Given the description of an element on the screen output the (x, y) to click on. 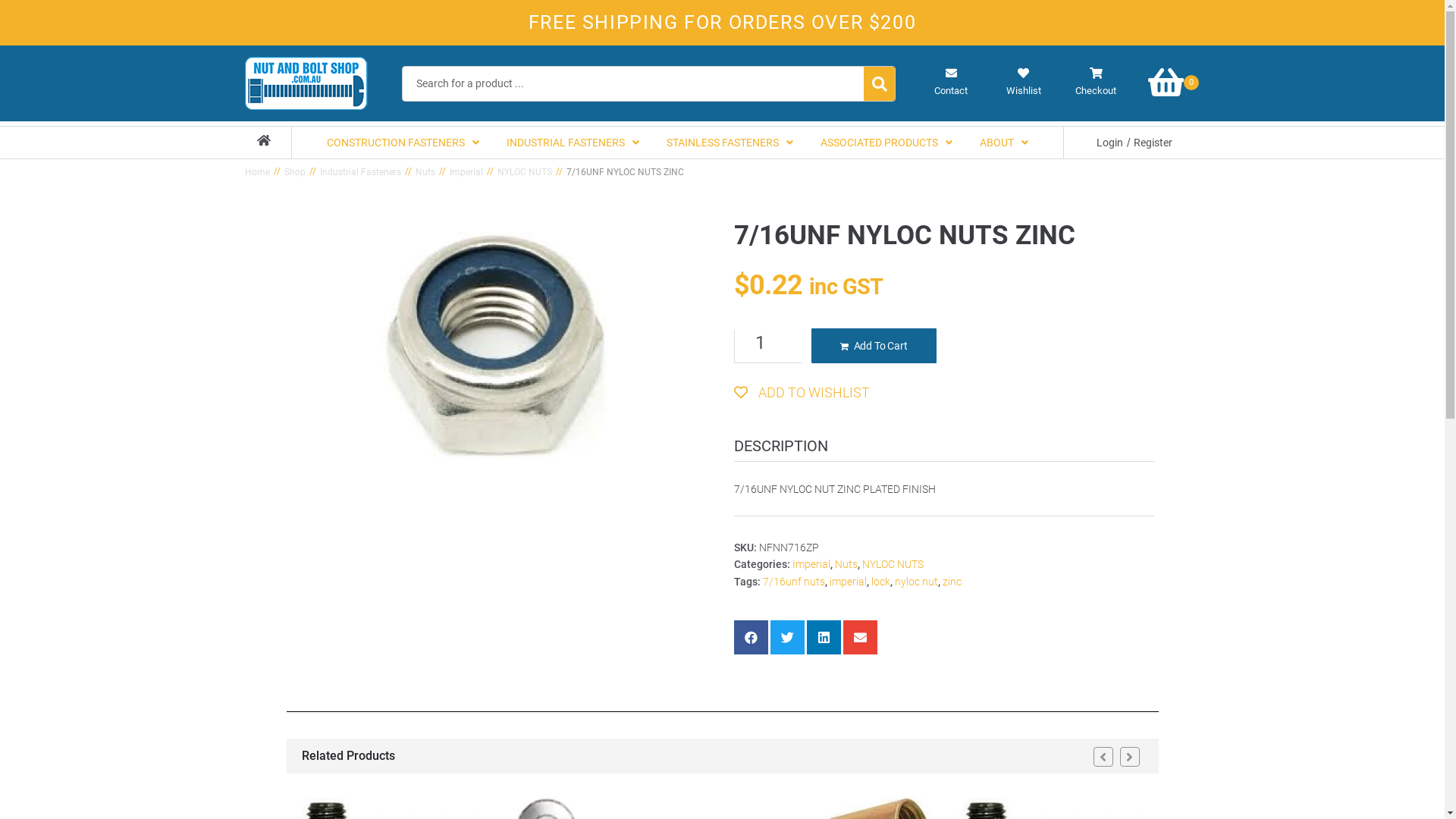
Login Element type: text (1109, 142)
Wishlist Element type: text (1023, 82)
ADD TO WISHLIST Element type: text (801, 392)
zinc Element type: text (950, 581)
CONSTRUCTION FASTENERS Element type: text (402, 142)
Imperial Element type: text (810, 564)
Imperial Element type: text (465, 172)
Contact Element type: text (951, 82)
Industrial Fasteners Element type: text (360, 172)
INDUSTRIAL FASTENERS Element type: text (572, 142)
imperial Element type: text (847, 581)
7/16unf nuts Element type: text (793, 581)
Checkout Element type: text (1095, 82)
nyloc nut Element type: text (916, 581)
Home Element type: text (256, 172)
Shop Element type: text (293, 172)
NYLOC NUTS Element type: text (891, 564)
0 Element type: text (1175, 81)
ABOUT Element type: text (1003, 142)
Nuts Element type: text (845, 564)
Add To Cart Element type: text (873, 345)
NYLOC NUTS Element type: text (524, 172)
STAINLESS FASTENERS Element type: text (729, 142)
ASSOCIATED PRODUCTS Element type: text (886, 142)
images Element type: hover (494, 345)
Nuts Element type: text (425, 172)
lock Element type: text (879, 581)
Register Element type: text (1152, 142)
